Given the description of an element on the screen output the (x, y) to click on. 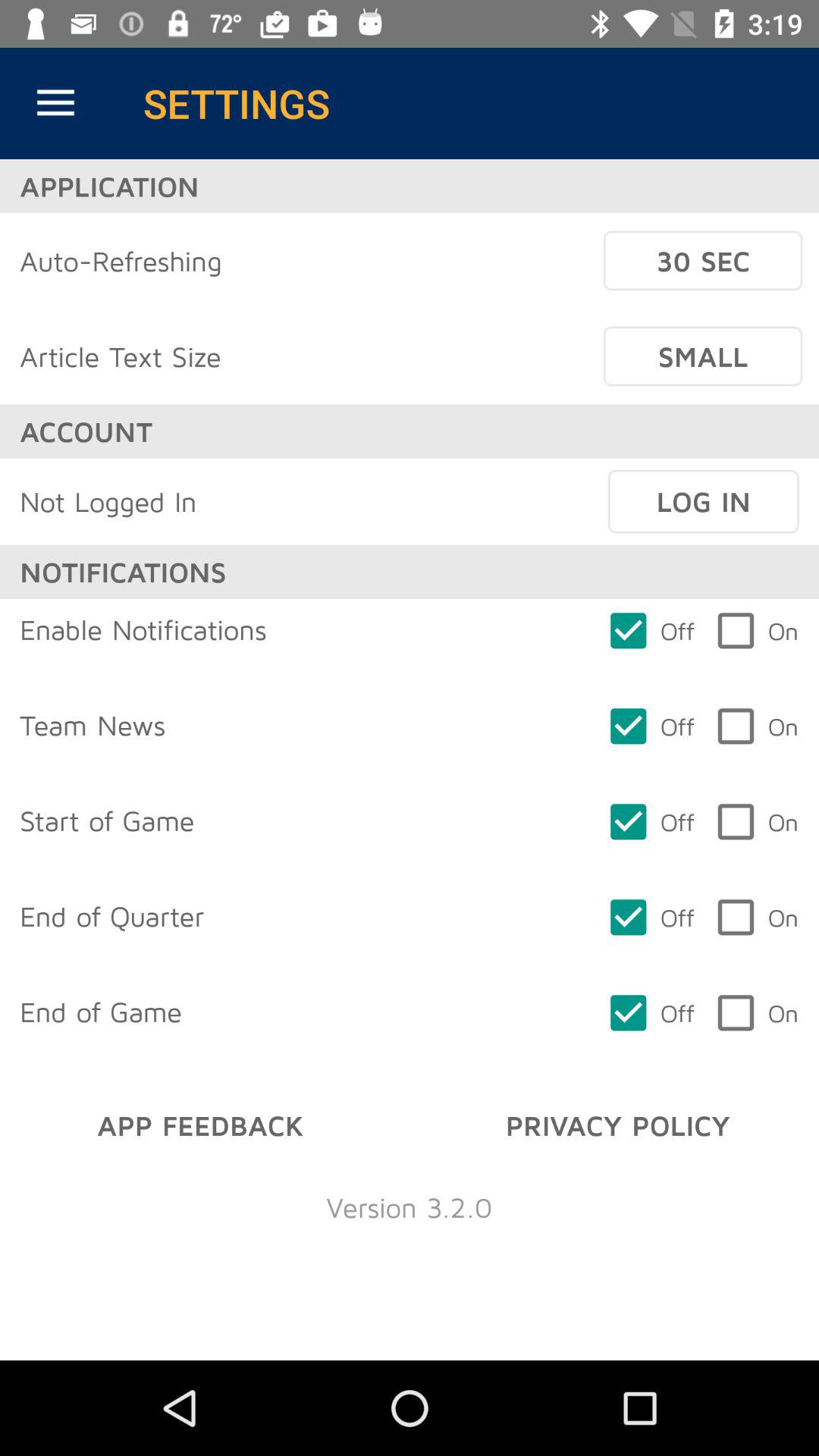
choose the log in item (703, 501)
